Given the description of an element on the screen output the (x, y) to click on. 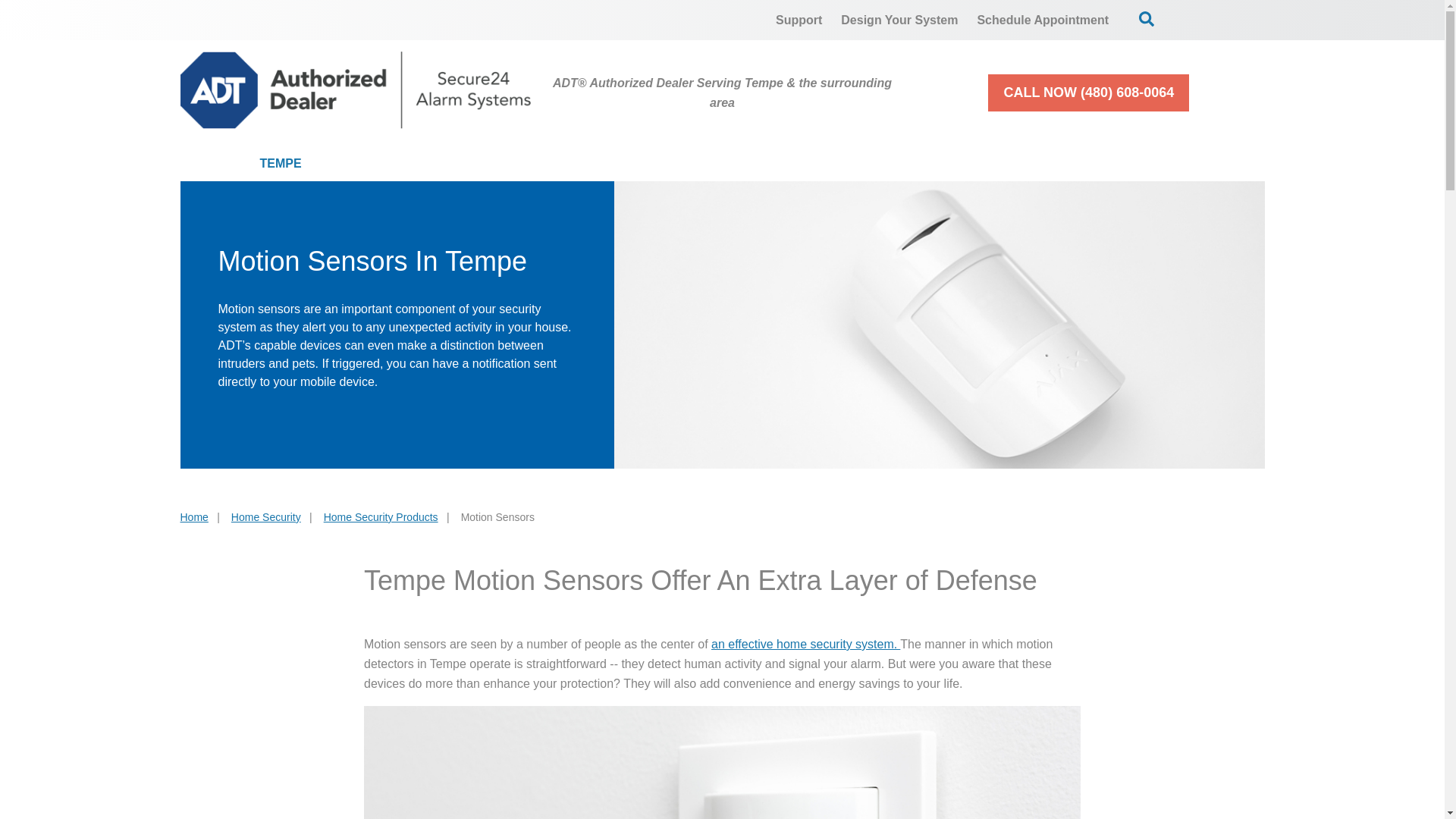
Expand Menu (610, 163)
Home Security (422, 163)
Design Your System (898, 20)
Expand Menu (1169, 163)
Open Search (1146, 18)
Schedule Appointment (1042, 20)
Home Automation (742, 163)
Cameras (578, 163)
Support (798, 20)
Secure24 Alarm Systems Home (355, 89)
Expand Menu (801, 163)
Expand Menu (472, 163)
Expand Menu (963, 163)
